Given the description of an element on the screen output the (x, y) to click on. 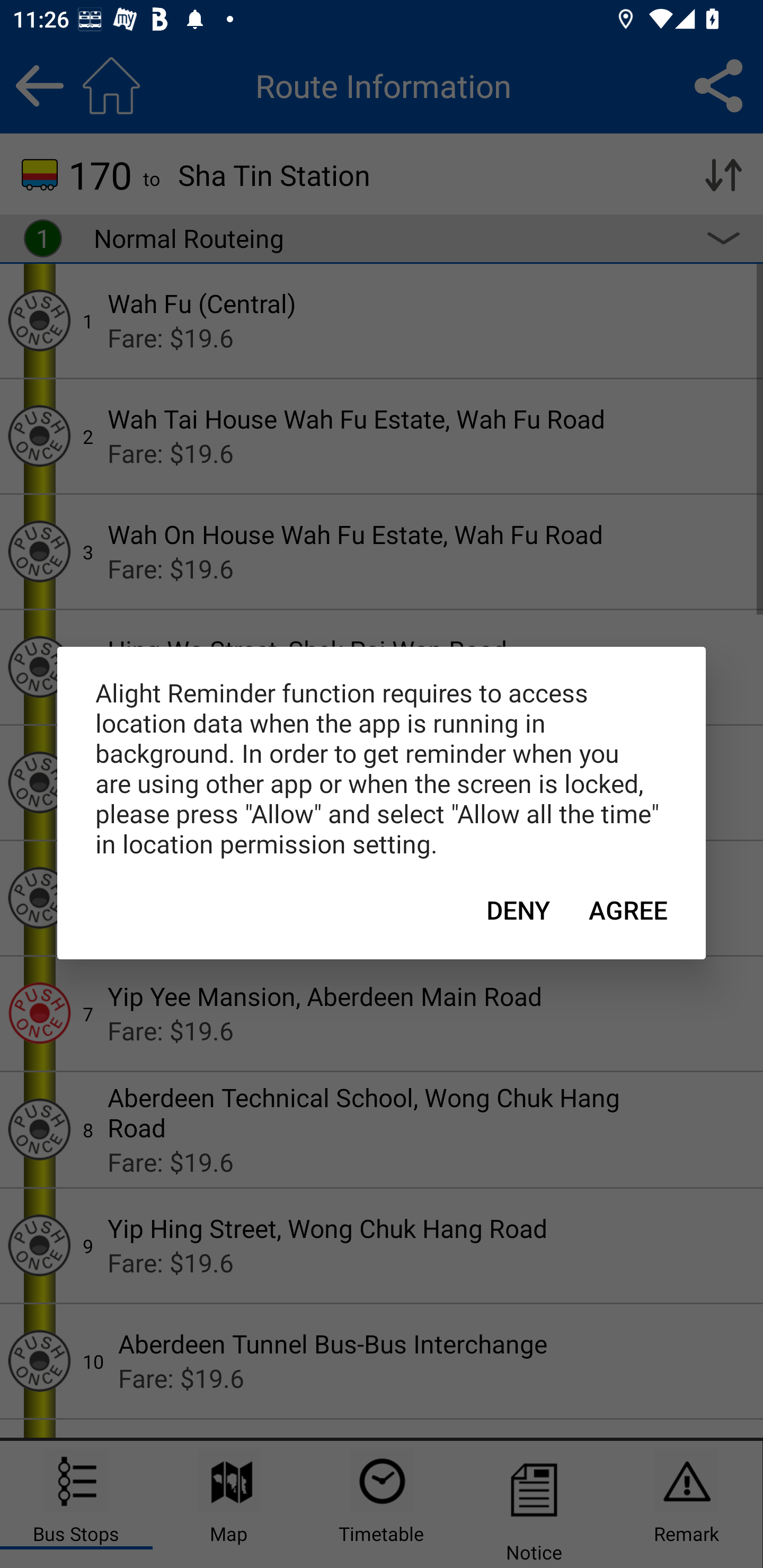
DENY (517, 910)
AGREE (627, 910)
